Given the description of an element on the screen output the (x, y) to click on. 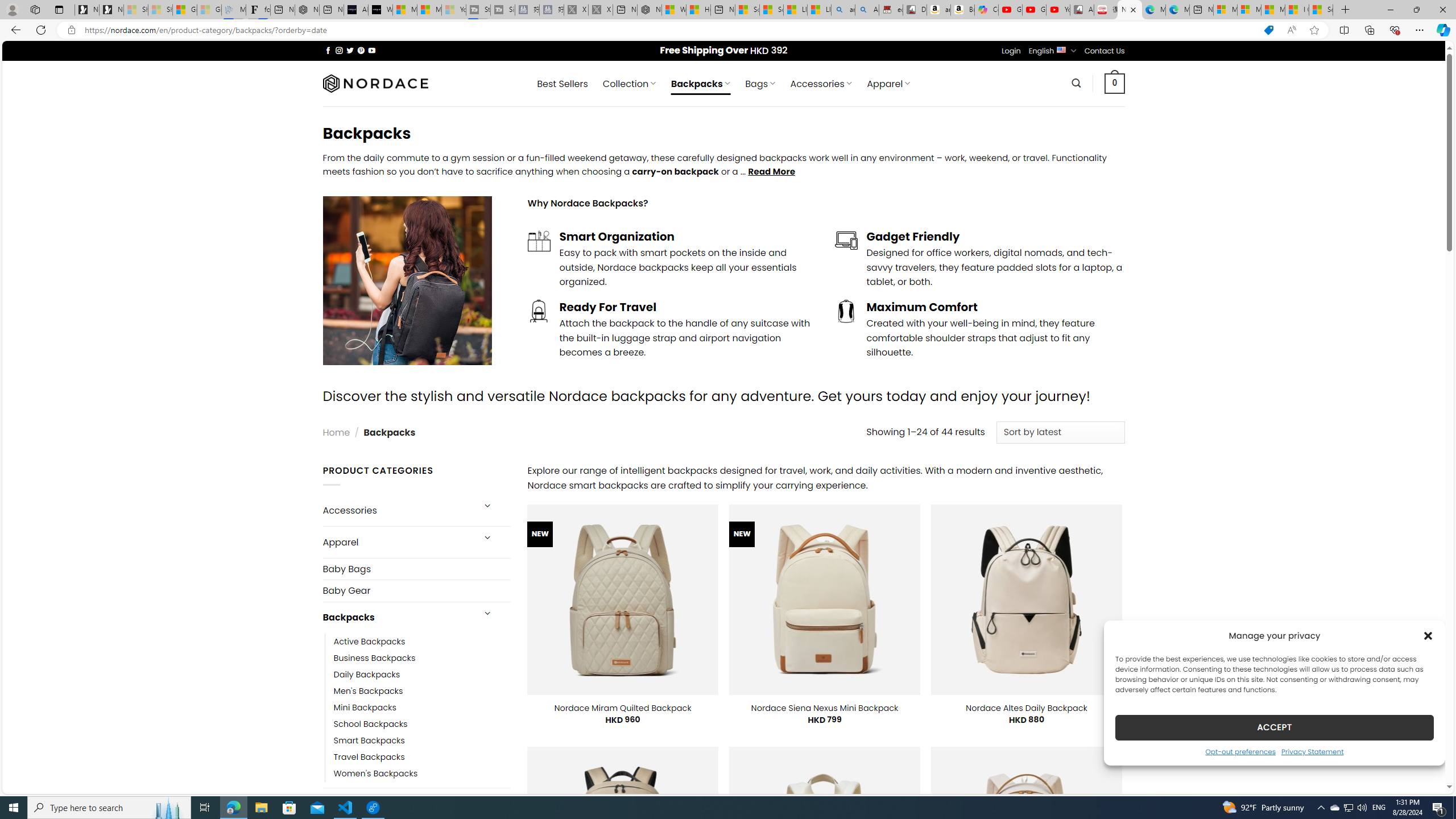
Follow on YouTube (371, 49)
This site has coupons! Shopping in Microsoft Edge (1268, 29)
All Cubot phones (1082, 9)
Baby Gear (416, 590)
Daily Backpacks (366, 674)
Login (1010, 50)
I Gained 20 Pounds of Muscle in 30 Days! | Watch (1296, 9)
Gloom - YouTube (1034, 9)
